Given the description of an element on the screen output the (x, y) to click on. 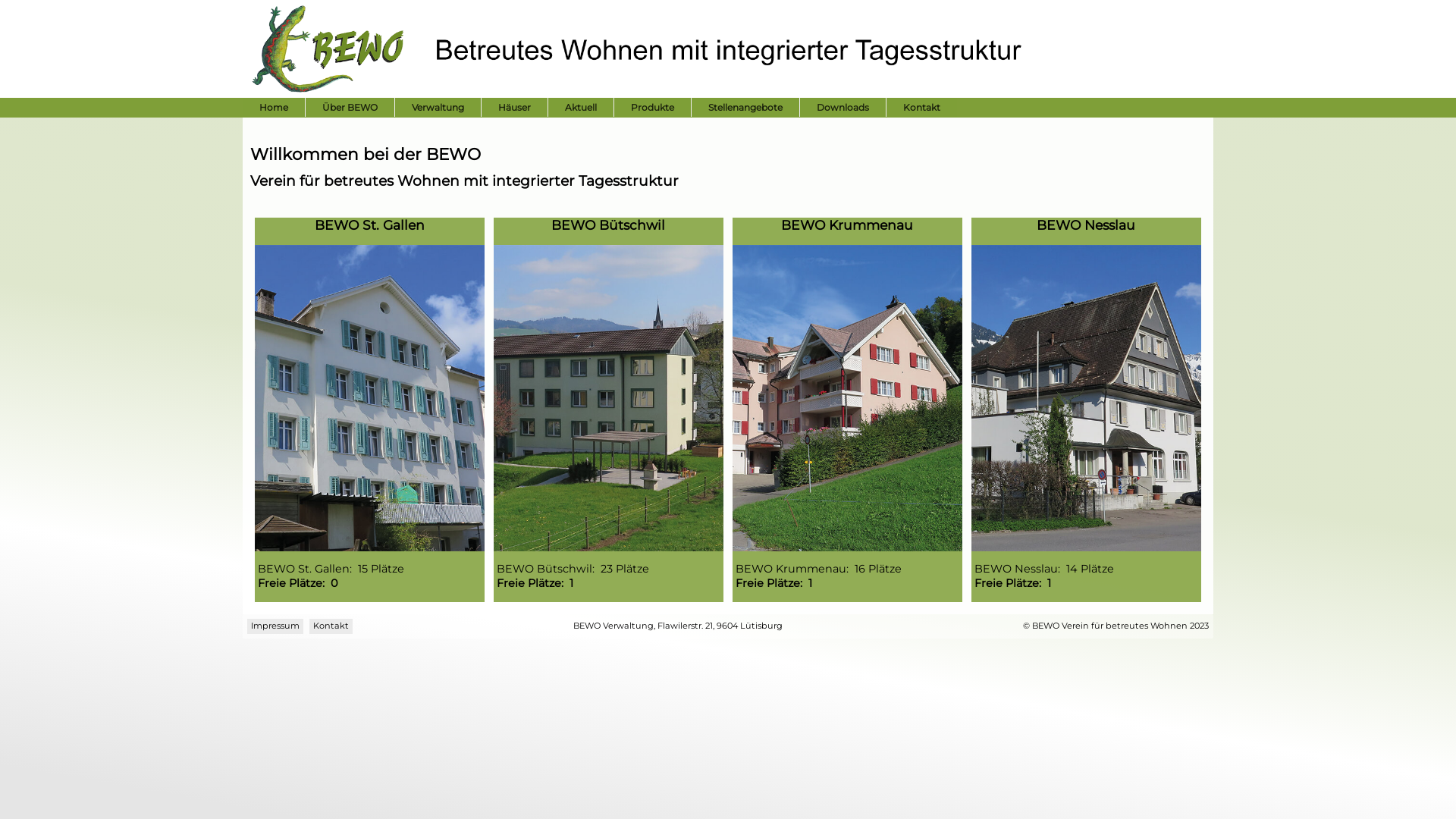
Stellenangebote Element type: text (745, 106)
Downloads Element type: text (842, 106)
BEWO Krummenau Element type: text (847, 224)
BEWO St. Gallen Element type: text (369, 224)
Kontakt Element type: text (921, 106)
BEWO Nesslau Element type: text (1085, 224)
Aktuell Element type: text (580, 106)
Home Element type: text (273, 106)
Produkte Element type: text (652, 106)
Impressum Element type: text (275, 625)
Kontakt Element type: text (330, 625)
Verwaltung Element type: text (437, 106)
